Given the description of an element on the screen output the (x, y) to click on. 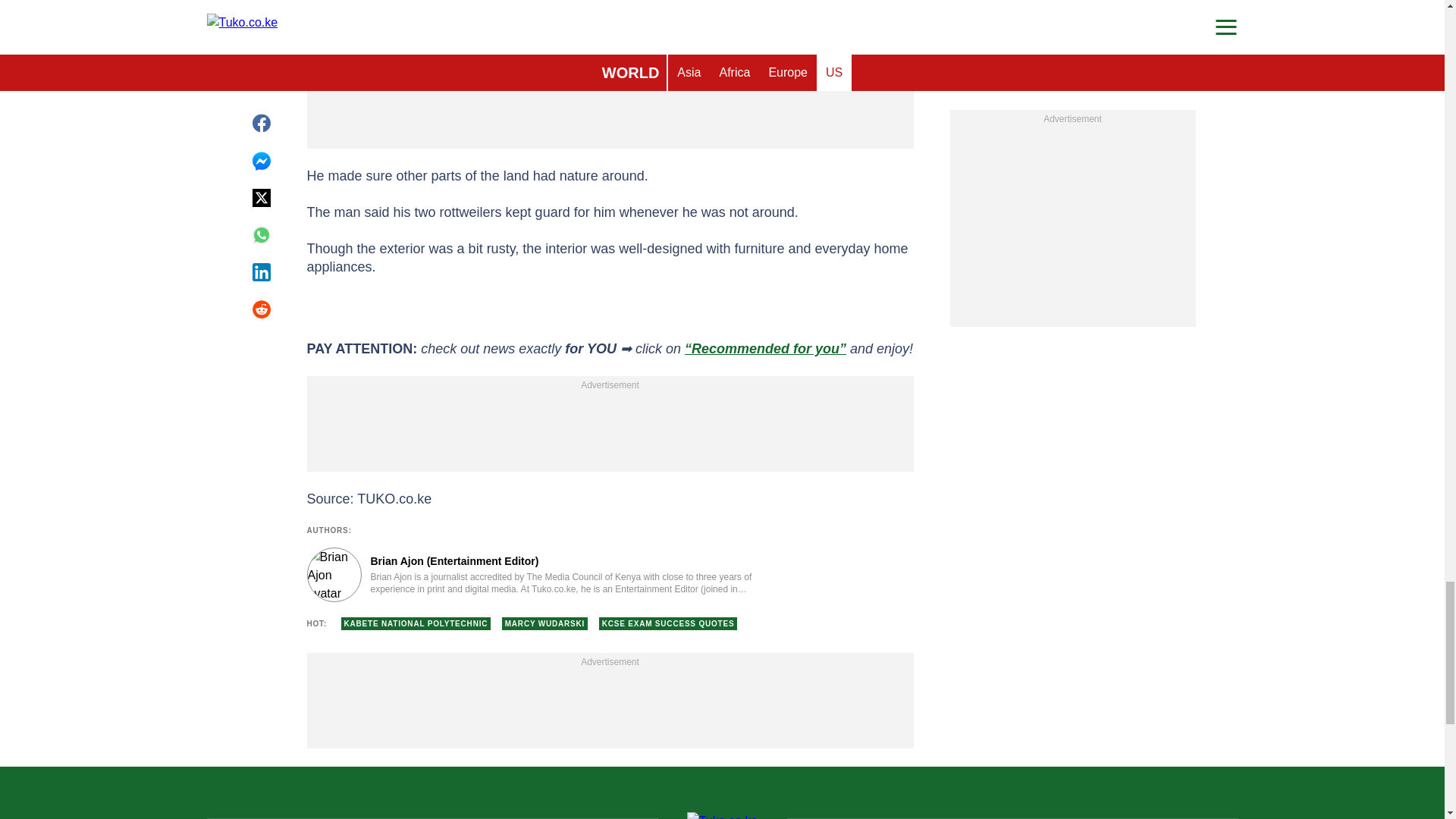
Author page (533, 574)
